Given the description of an element on the screen output the (x, y) to click on. 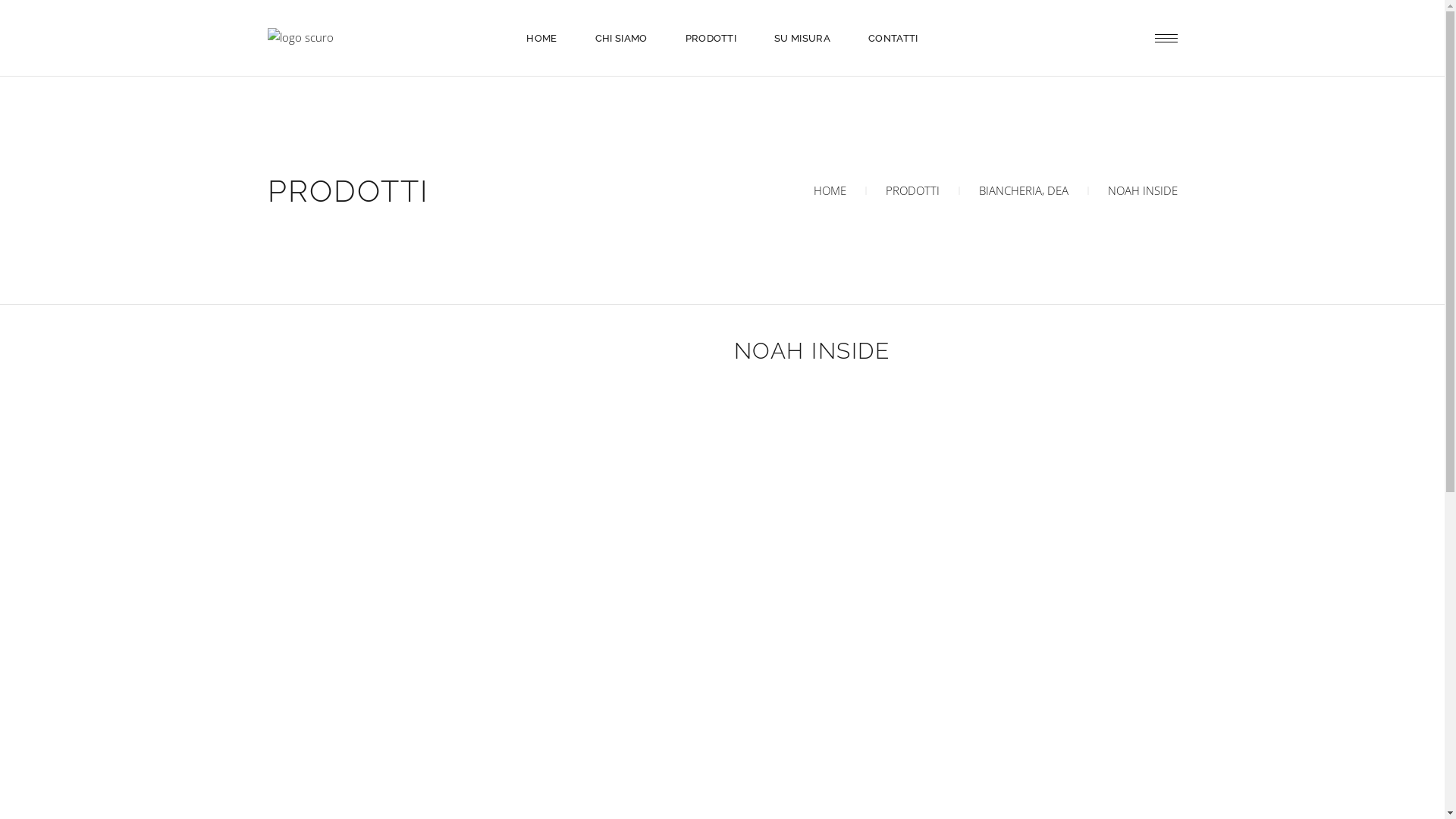
CHI SIAMO Element type: text (621, 37)
CONTATTI Element type: text (893, 37)
HOME Element type: text (828, 190)
CONTATTI Element type: text (800, 520)
PRODOTTI Element type: text (711, 37)
PRODOTTI Element type: text (912, 190)
SU MISURA Element type: text (802, 37)
HOME Element type: text (635, 520)
BIANCHERIA Element type: text (1009, 190)
HOME Element type: text (541, 37)
Ticino Comunicazione Element type: text (787, 690)
DEA Element type: text (1056, 190)
PRODOTTI Element type: text (713, 520)
